Given the description of an element on the screen output the (x, y) to click on. 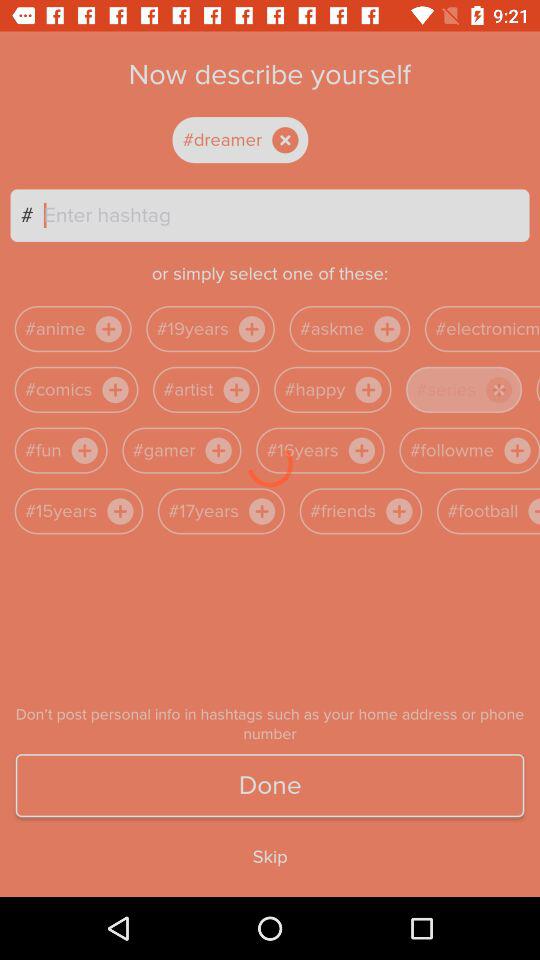
choose the item above skip icon (269, 785)
